Given the description of an element on the screen output the (x, y) to click on. 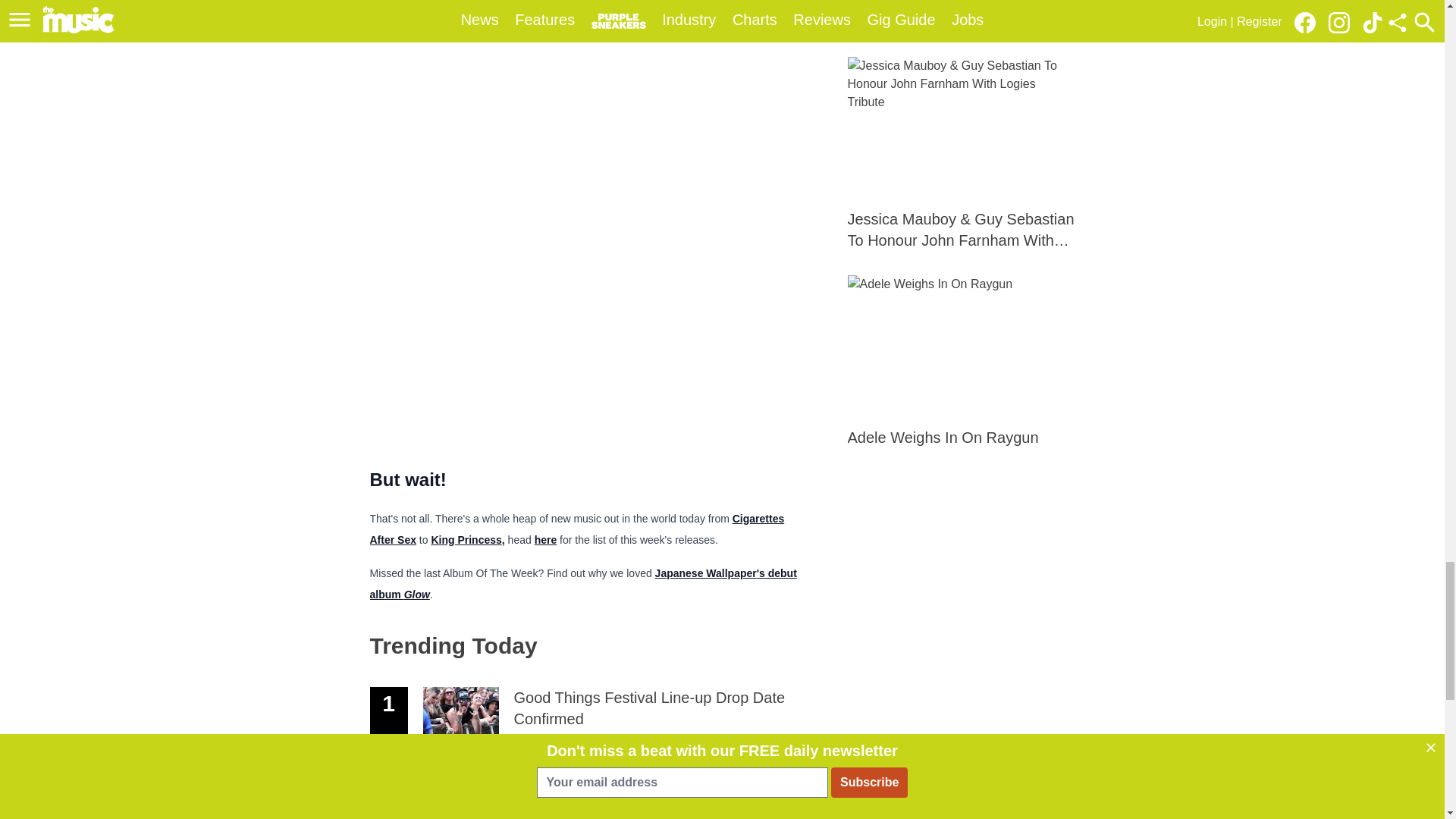
here (545, 538)
King Princess (465, 539)
Cigarettes After Sex (576, 528)
Japanese Wallpaper's debut album Glow (582, 582)
Spotify Embed: Pony (588, 113)
